Given the description of an element on the screen output the (x, y) to click on. 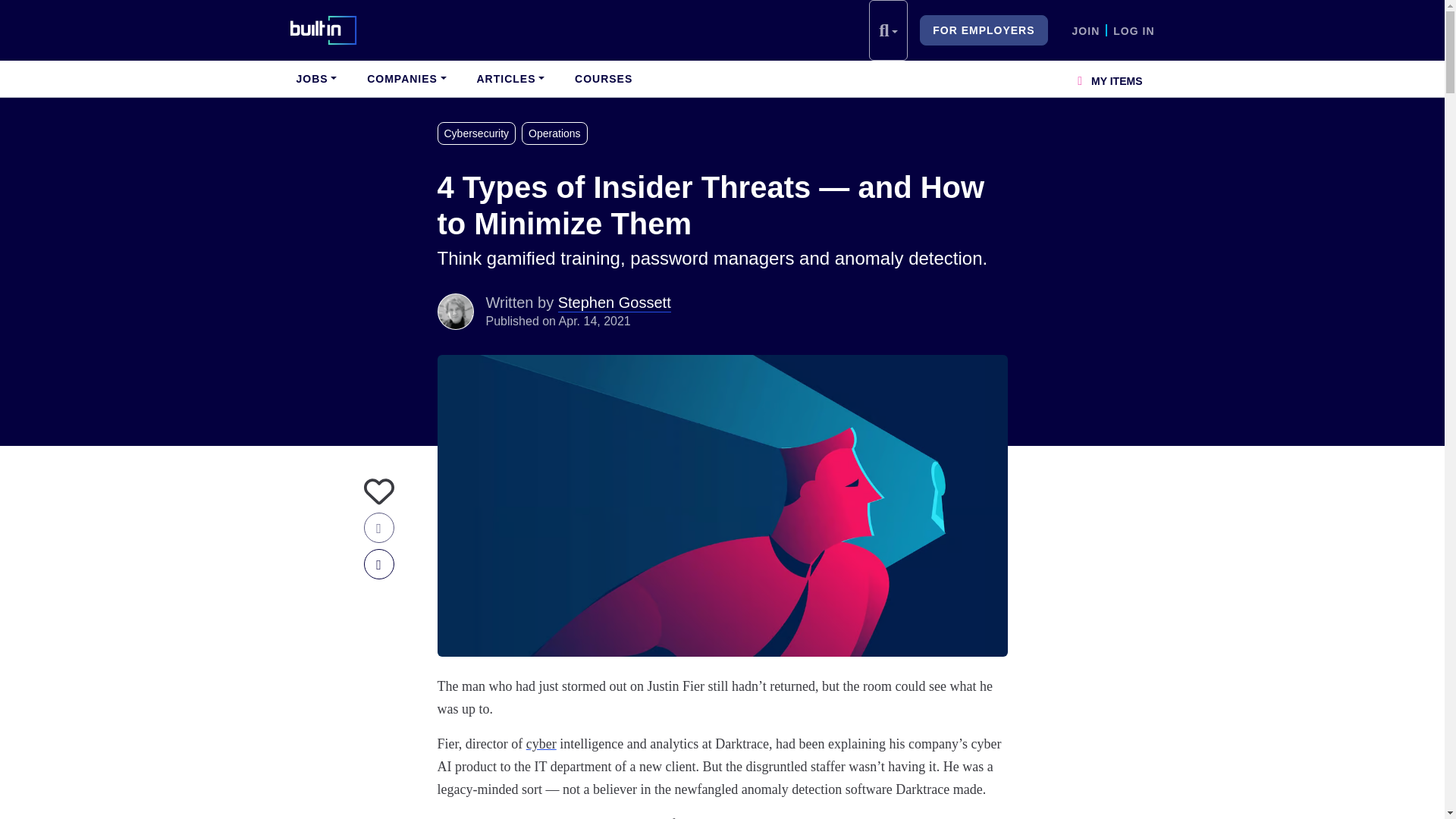
COMPANIES (406, 78)
FOR EMPLOYERS (983, 30)
ARTICLES (510, 78)
LOG IN (1133, 30)
JOBS (315, 78)
Cybersecurity (478, 133)
Stephen Gossett (455, 311)
JOIN (1085, 30)
Operations (556, 133)
